Given the description of an element on the screen output the (x, y) to click on. 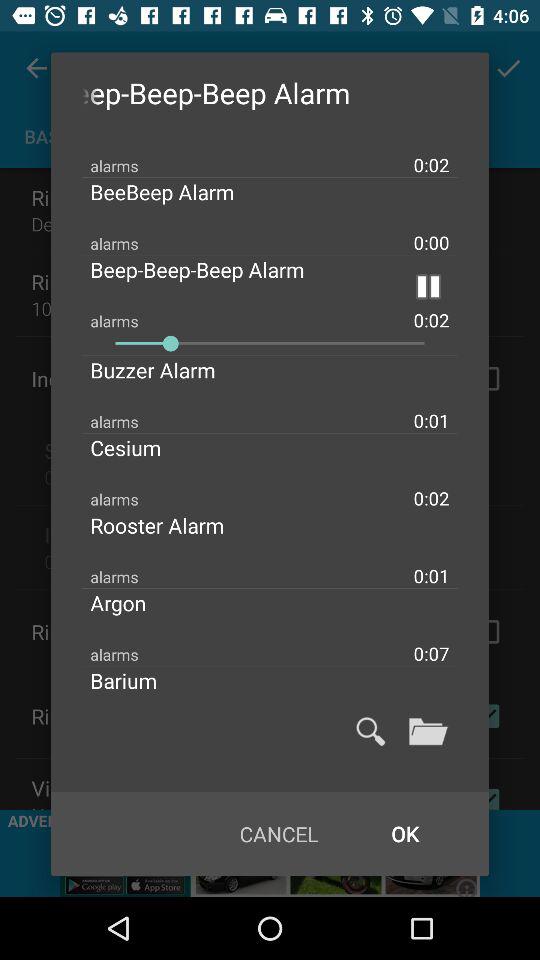
turn off item to the right of the cancel icon (404, 833)
